Given the description of an element on the screen output the (x, y) to click on. 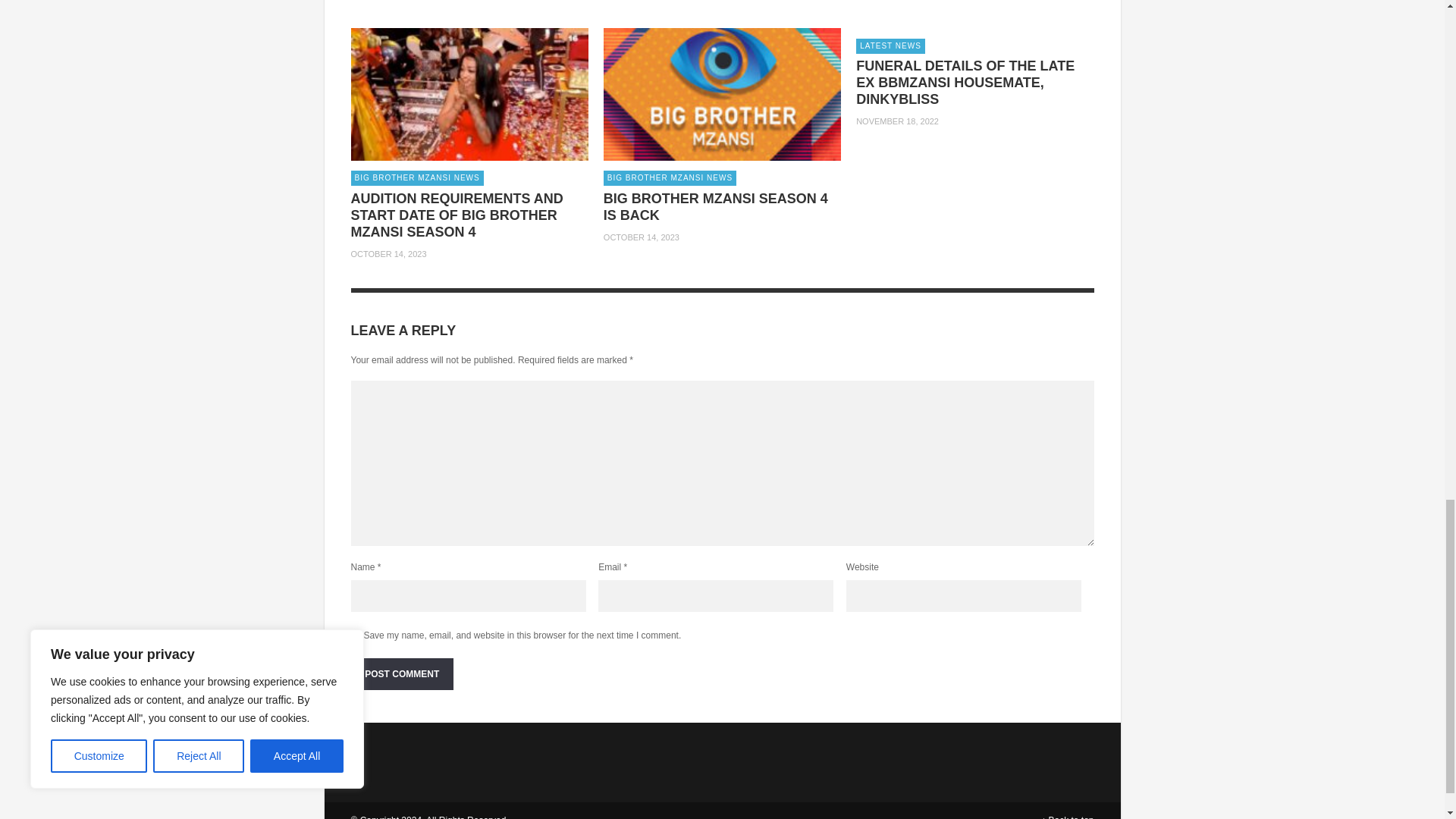
yes (354, 635)
Post Comment (401, 674)
